Given the description of an element on the screen output the (x, y) to click on. 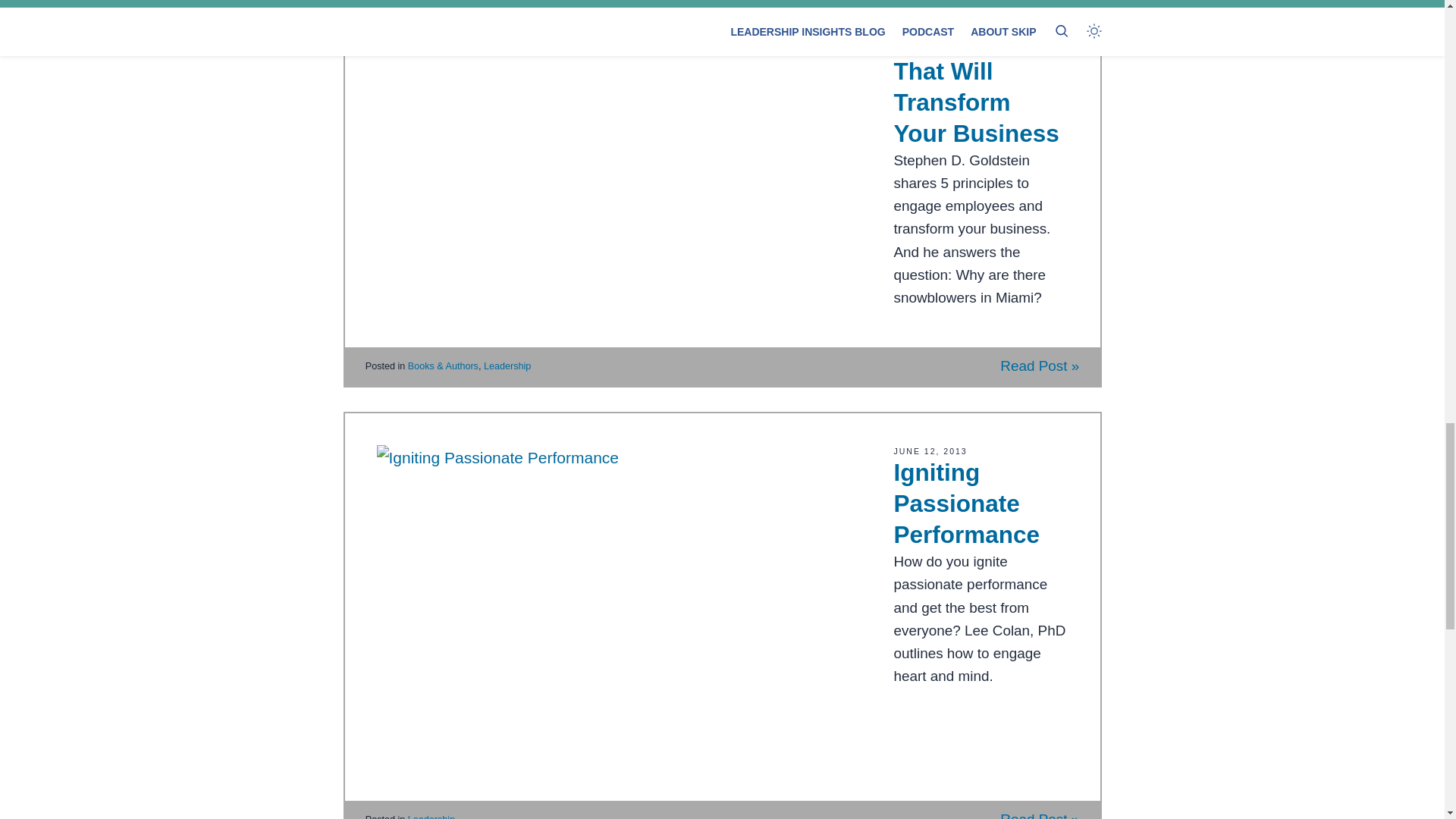
Leadership (507, 366)
Igniting Passionate Performance (966, 502)
Leadership (430, 816)
5 Principles of Engagement That Will Transform Your Business (975, 73)
